Given the description of an element on the screen output the (x, y) to click on. 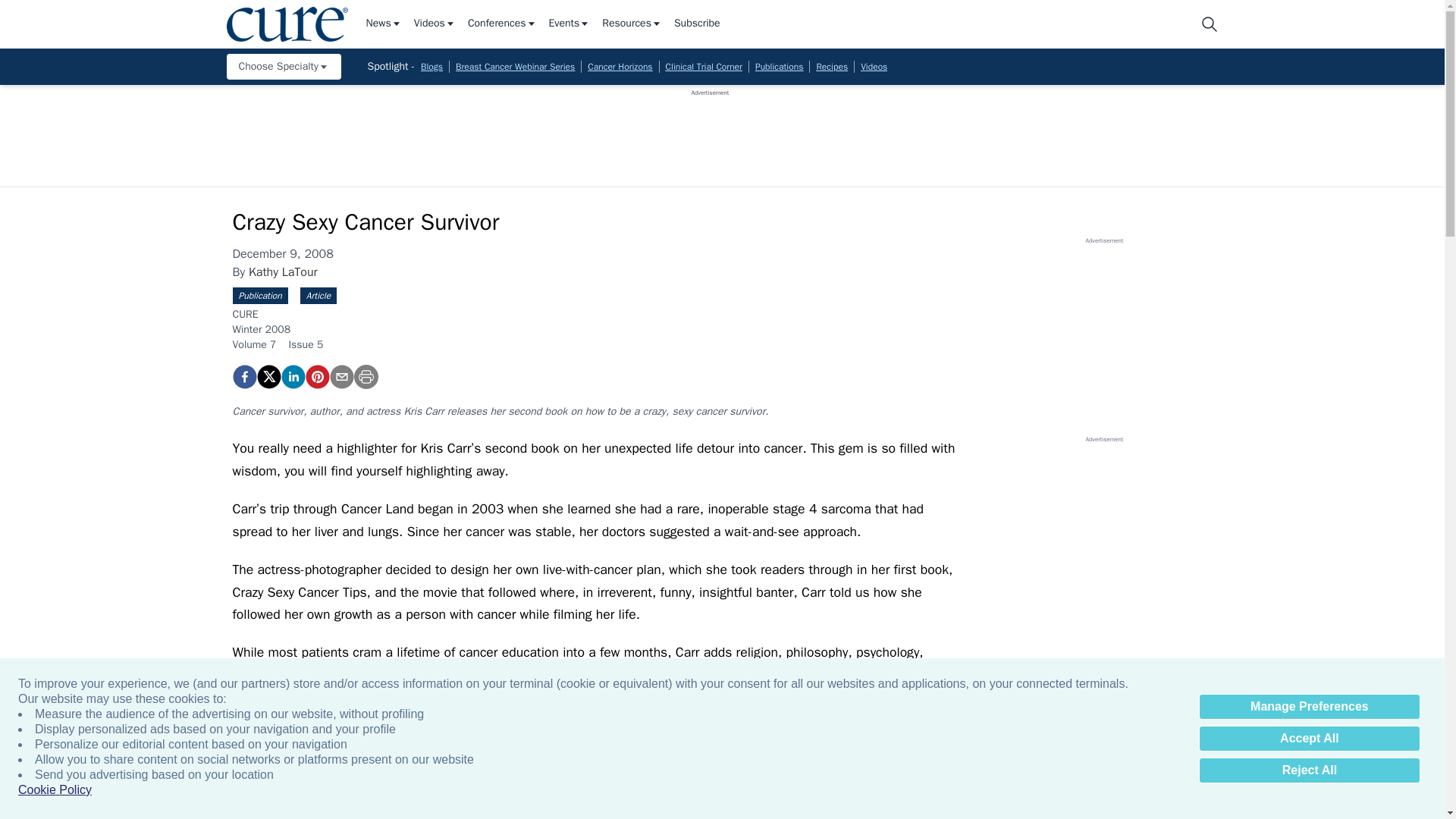
3rd party ad content (1103, 339)
Events (569, 23)
Conferences (502, 23)
3rd party ad content (1103, 538)
Accept All (1309, 738)
Cookie Policy (54, 789)
Reject All (1309, 769)
Crazy Sexy Cancer Survivor (243, 376)
Manage Preferences (1309, 706)
Videos (434, 23)
Crazy Sexy Cancer Survivor (316, 376)
3rd party ad content (709, 131)
News (383, 23)
